Given the description of an element on the screen output the (x, y) to click on. 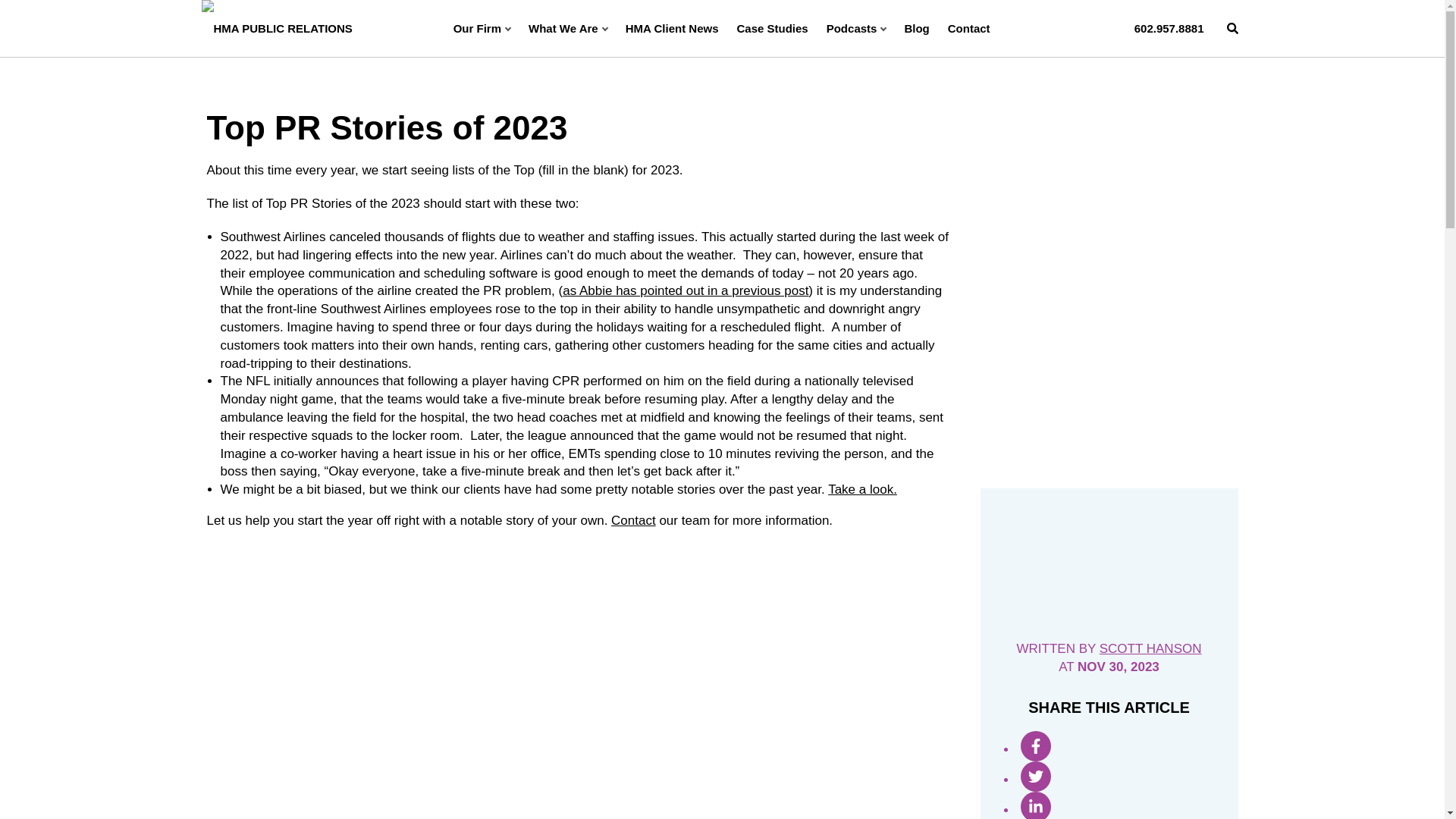
Posts by Scott Hanson (1150, 648)
Contact (633, 520)
Our Firm (481, 28)
Podcasts (856, 28)
602.957.8881 (1169, 28)
HMA Client News (672, 28)
SCOTT HANSON (1150, 648)
What We Are (567, 28)
Case Studies (772, 28)
as Abbie has pointed out in a previous post (685, 290)
Take a look. (862, 489)
